Given the description of an element on the screen output the (x, y) to click on. 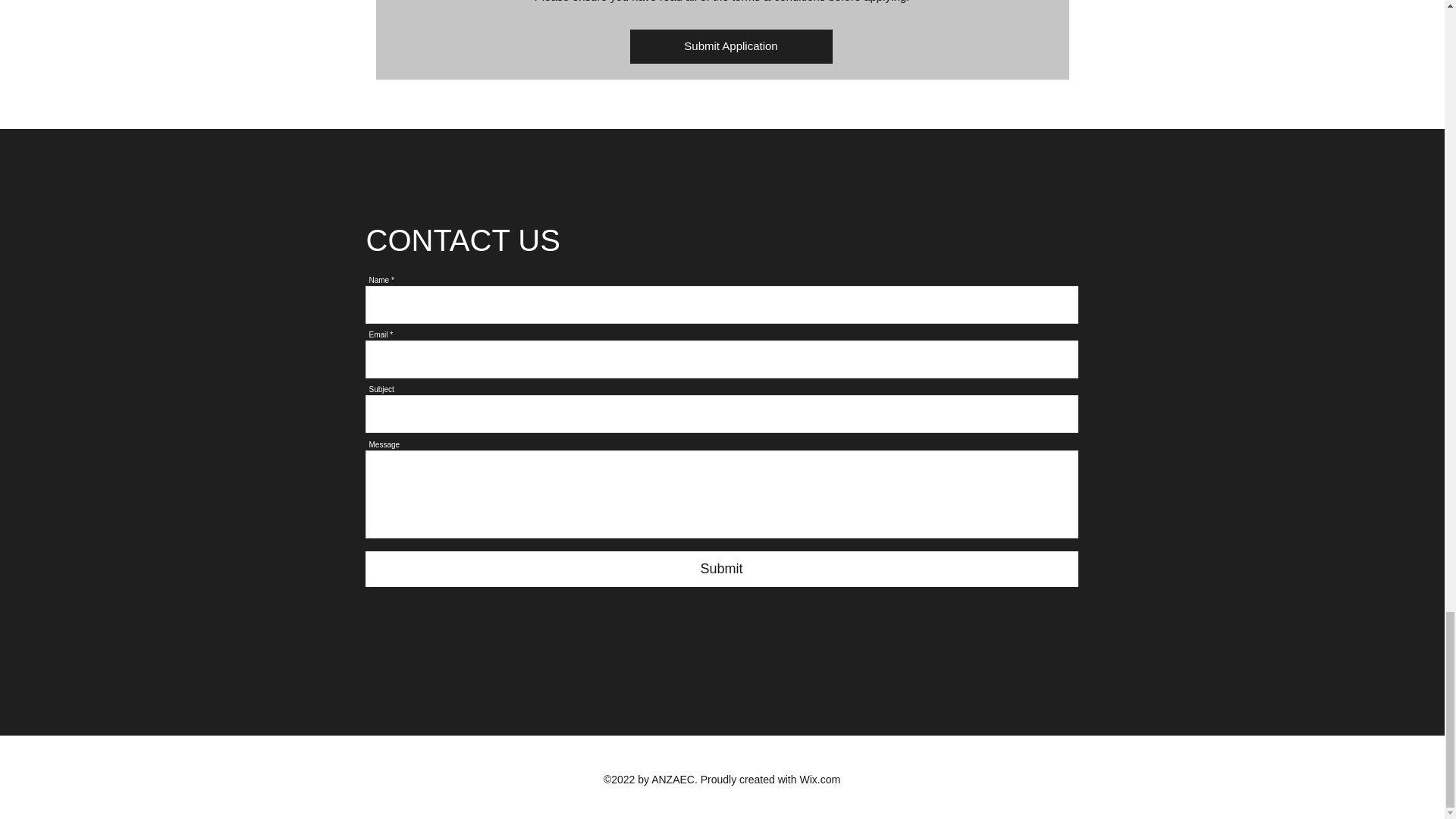
Submit (721, 569)
Submit Application (729, 46)
